Given the description of an element on the screen output the (x, y) to click on. 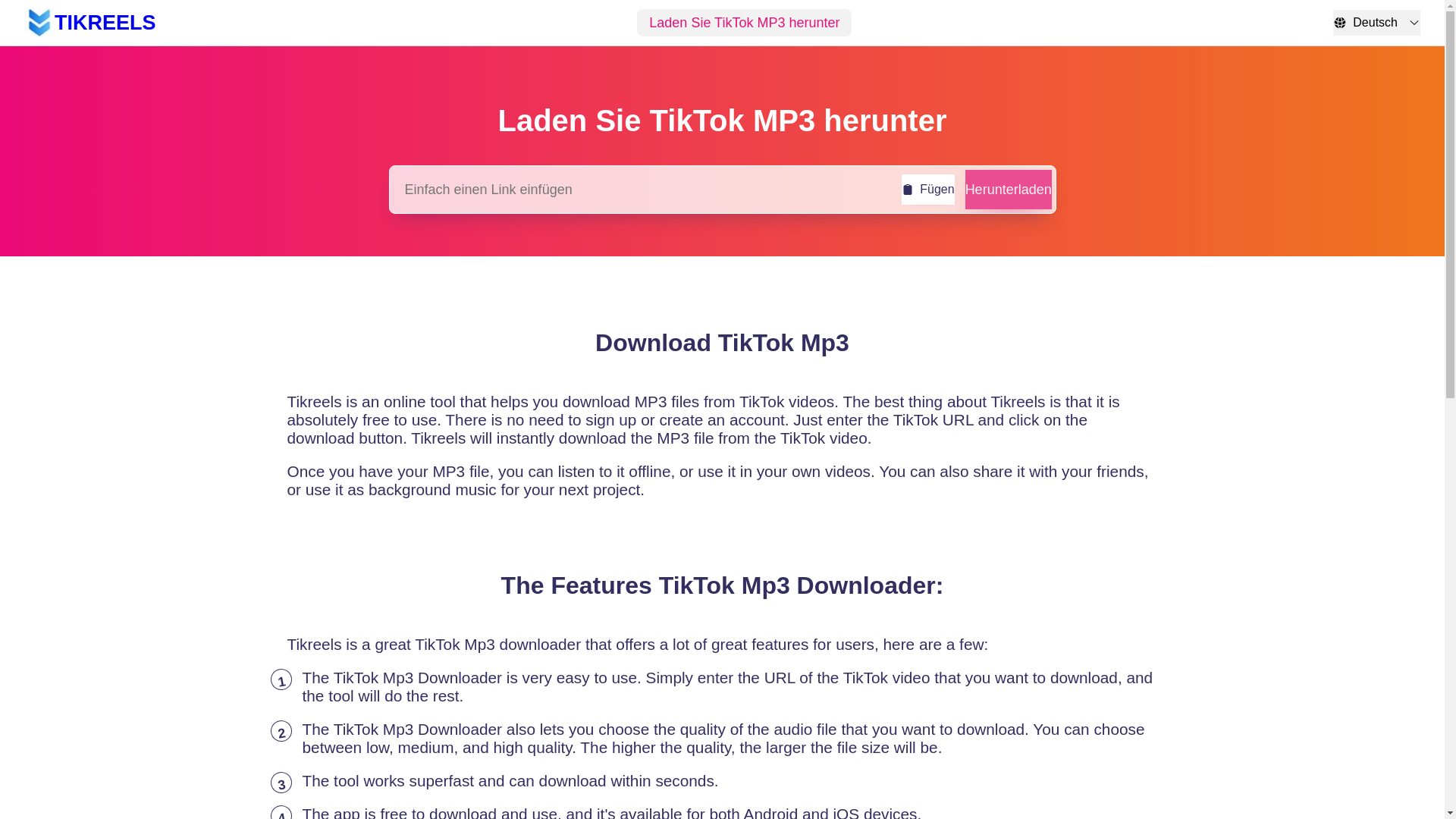
Laden Sie TikTok MP3 herunter (744, 22)
Deutsch (1377, 22)
TIKREELS (89, 22)
Herunterladen (1008, 189)
